Given the description of an element on the screen output the (x, y) to click on. 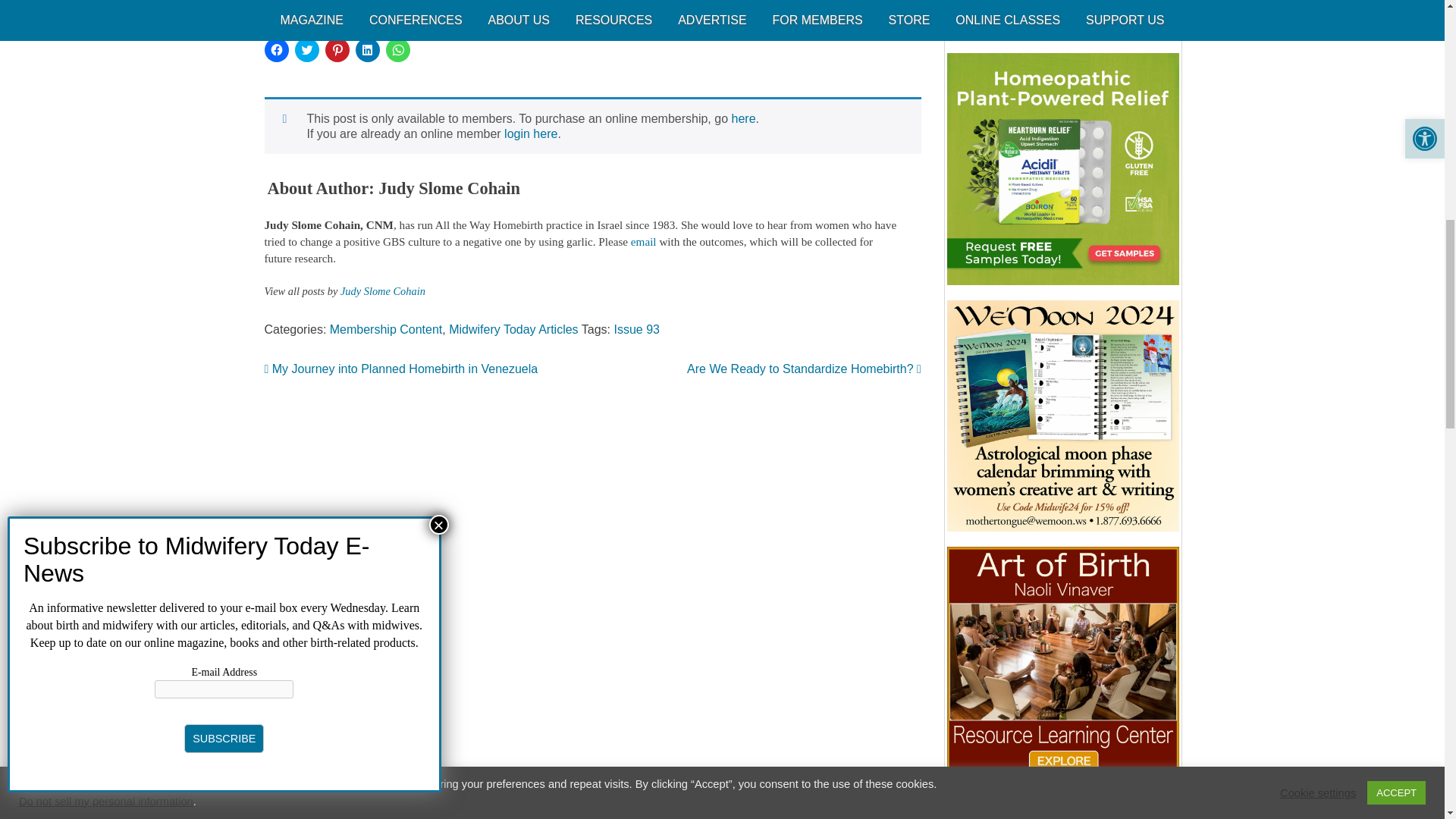
Click to share on Twitter (306, 49)
Click to share on Facebook (275, 49)
Click to share on WhatsApp (397, 49)
Click to share on LinkedIn (366, 49)
Posts by Judy Slome Cohain (382, 291)
Click to share on Pinterest (336, 49)
